Given the description of an element on the screen output the (x, y) to click on. 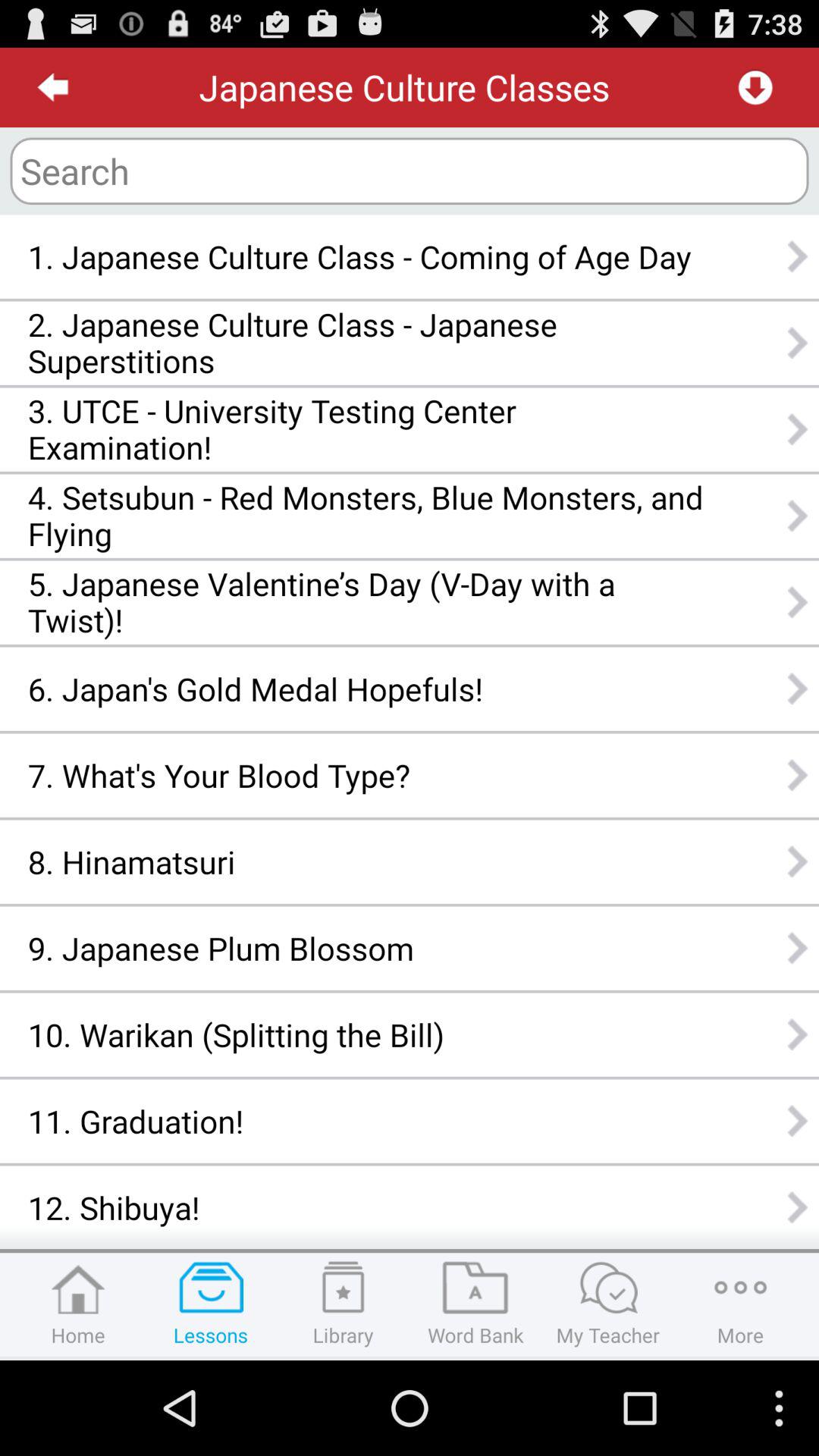
open 6 japan s item (365, 688)
